Given the description of an element on the screen output the (x, y) to click on. 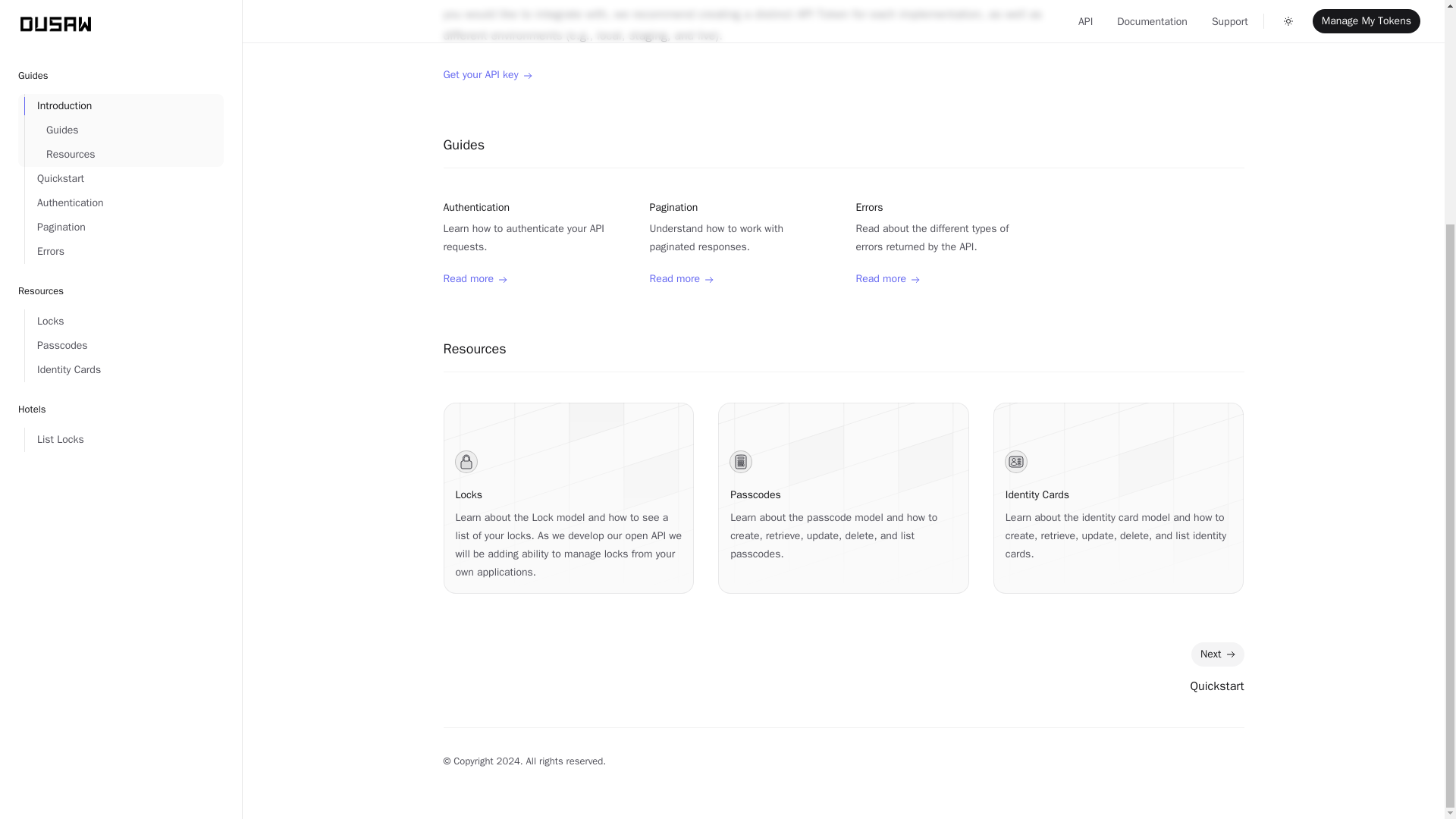
Identity Cards (124, 70)
Get your API key (486, 75)
Passcodes (755, 494)
Read more (474, 279)
Read more (888, 279)
Guides (463, 144)
Resources (473, 348)
Locks (467, 494)
Next (1217, 654)
